Given the description of an element on the screen output the (x, y) to click on. 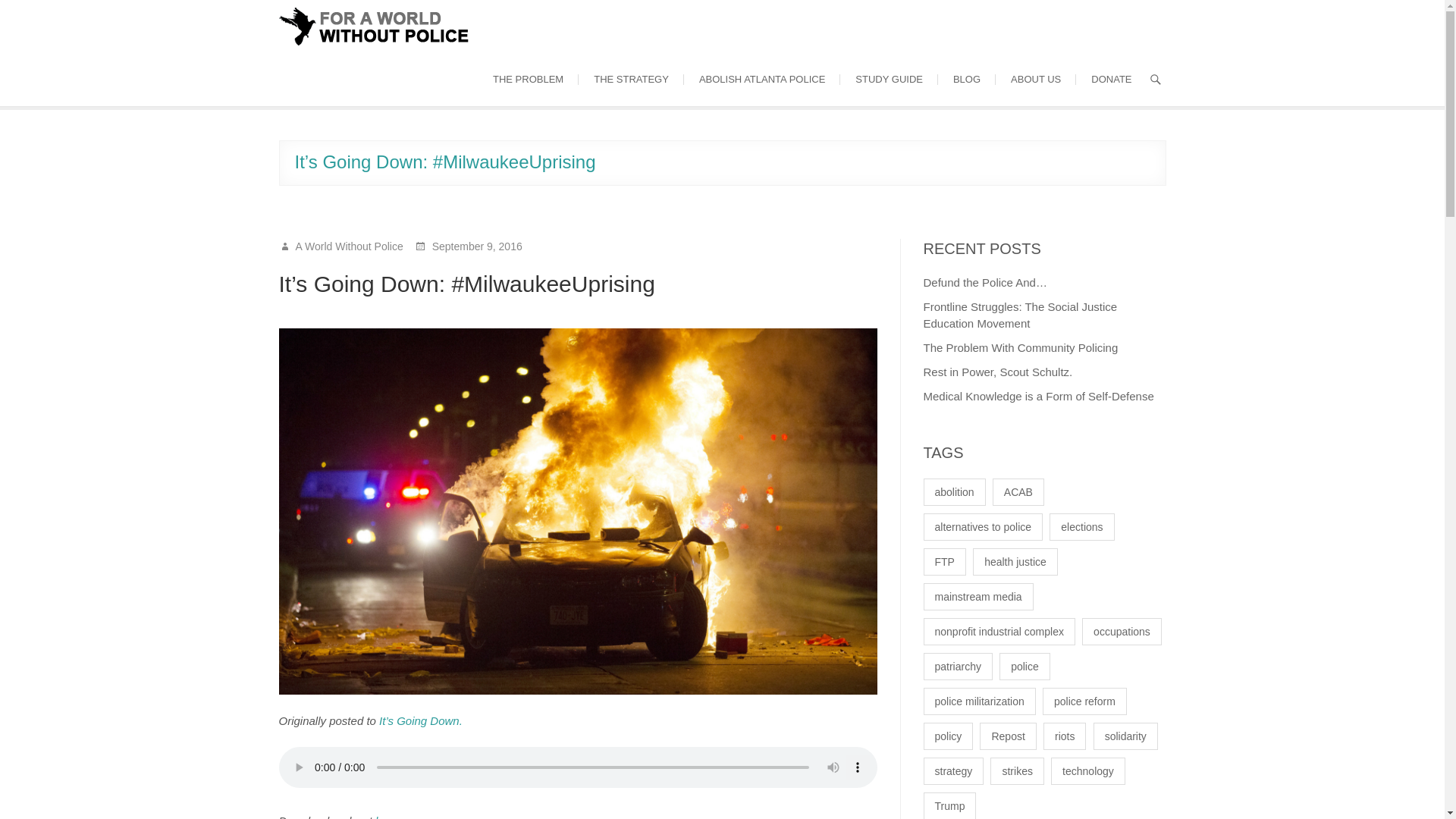
A World Without Police (347, 246)
THE PROBLEM (527, 79)
ABOLISH ATLANTA POLICE (762, 79)
A World Without Police (347, 246)
10:00 am (475, 246)
ABOUT US (1035, 79)
DONATE (1111, 79)
BLOG (966, 79)
THE STRATEGY (631, 79)
STUDY GUIDE (888, 79)
